Given the description of an element on the screen output the (x, y) to click on. 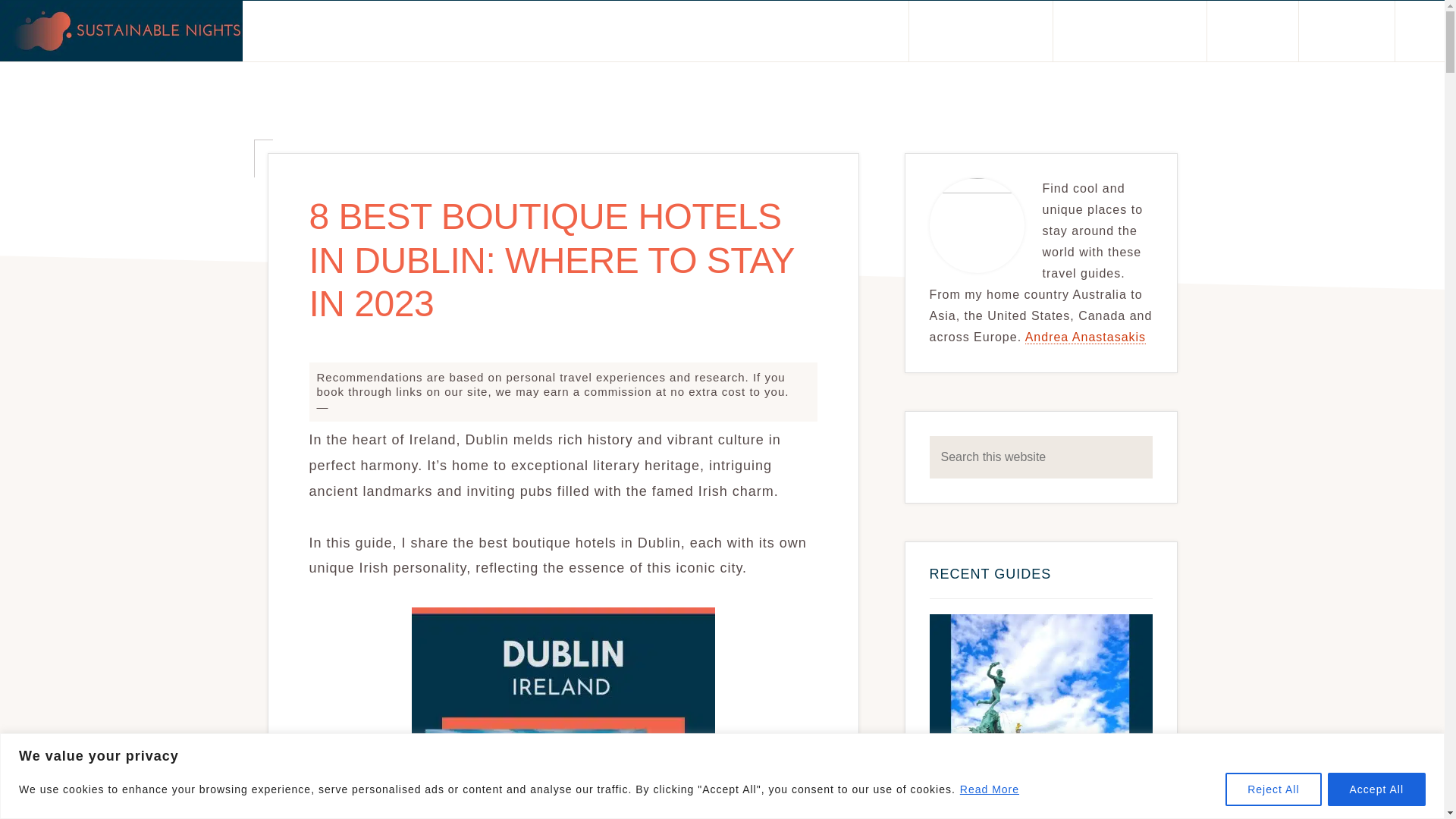
ABOUT (862, 30)
DESTINATIONS (980, 30)
Reject All (1272, 788)
Accept All (1376, 788)
Read More (989, 789)
